Given the description of an element on the screen output the (x, y) to click on. 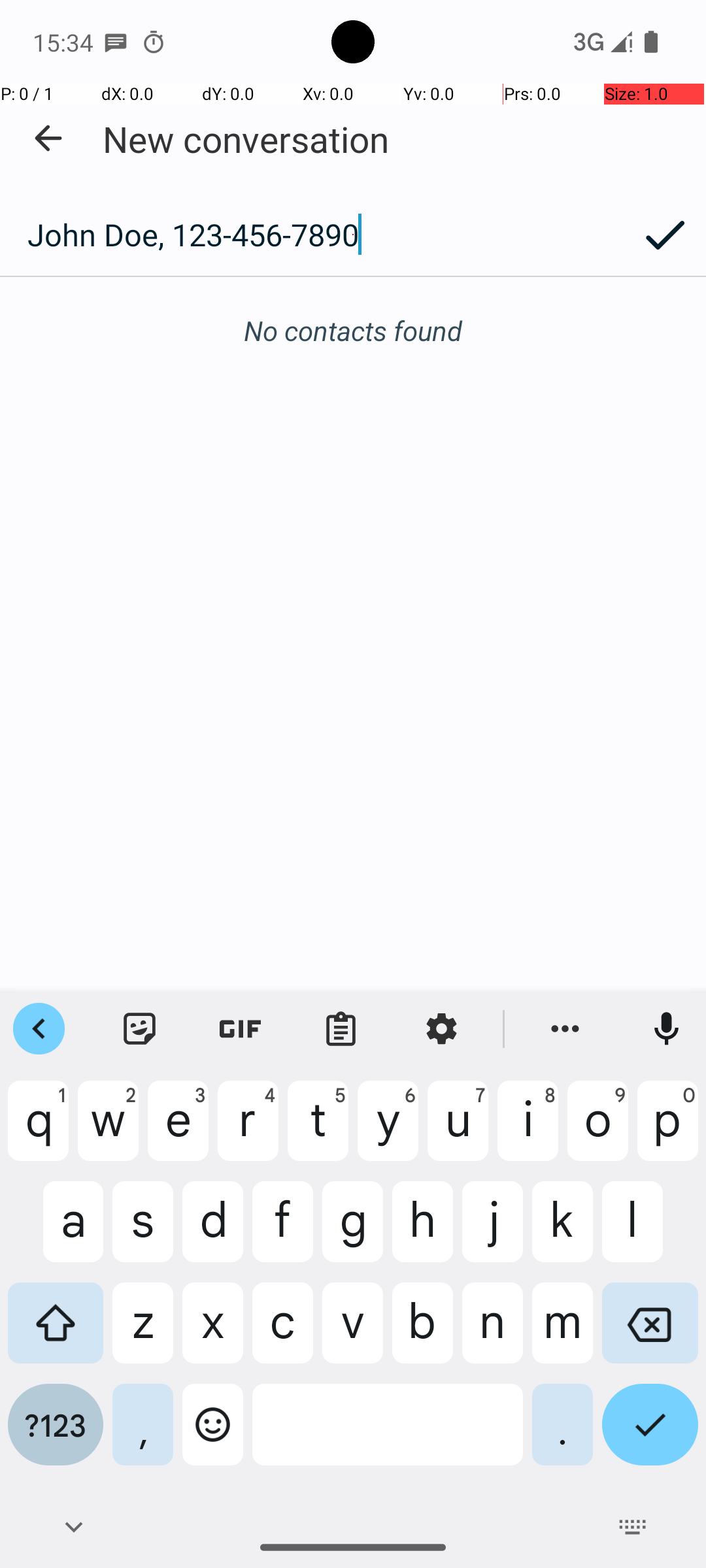
John Doe, 123-456-7890 Element type: android.widget.EditText (311, 234)
